Given the description of an element on the screen output the (x, y) to click on. 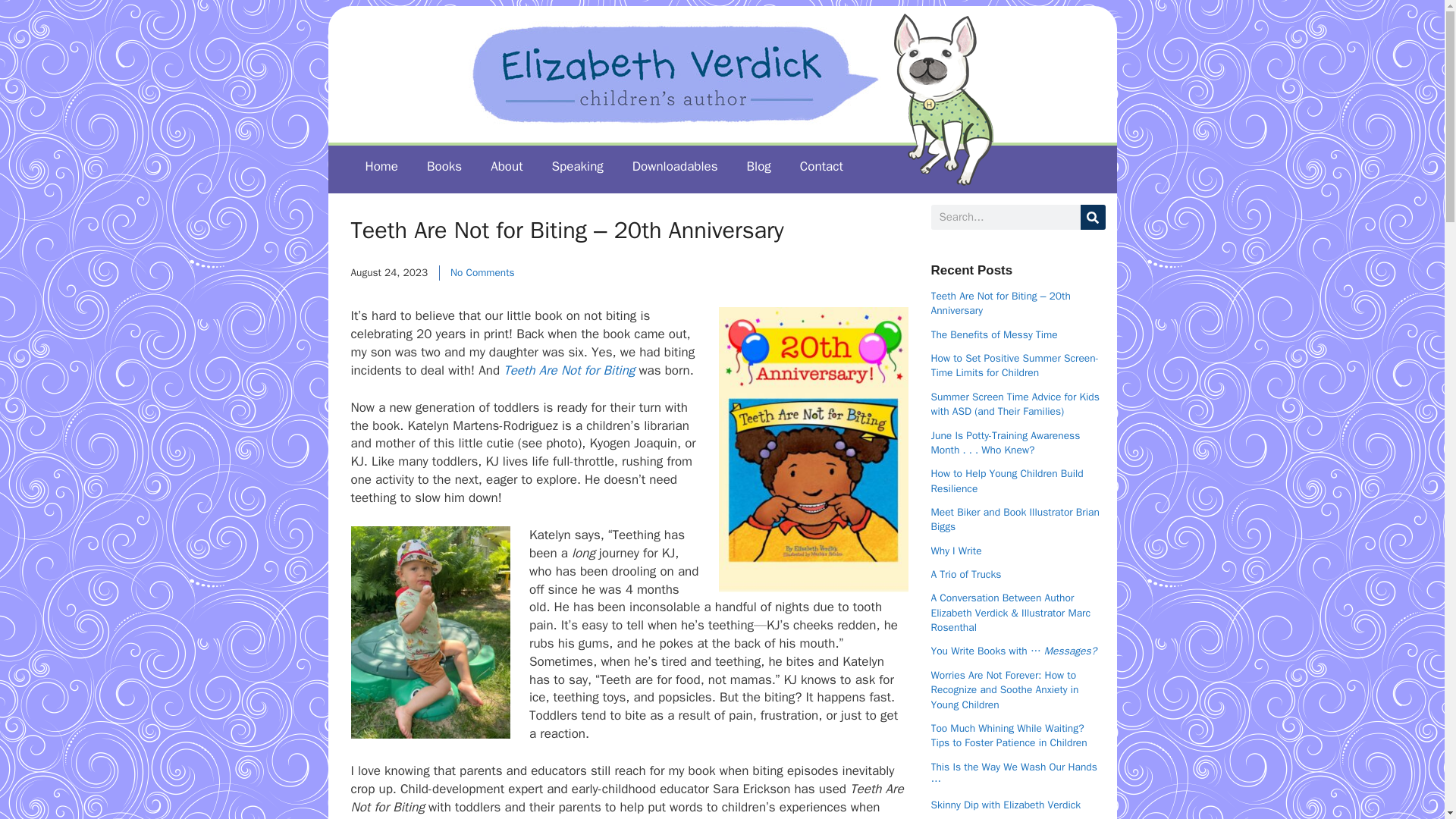
Speaking (577, 166)
Home (381, 166)
About (506, 166)
Books (444, 166)
Downloadables (674, 166)
Contact (821, 166)
Blog (759, 166)
No Comments (481, 272)
